Given the description of an element on the screen output the (x, y) to click on. 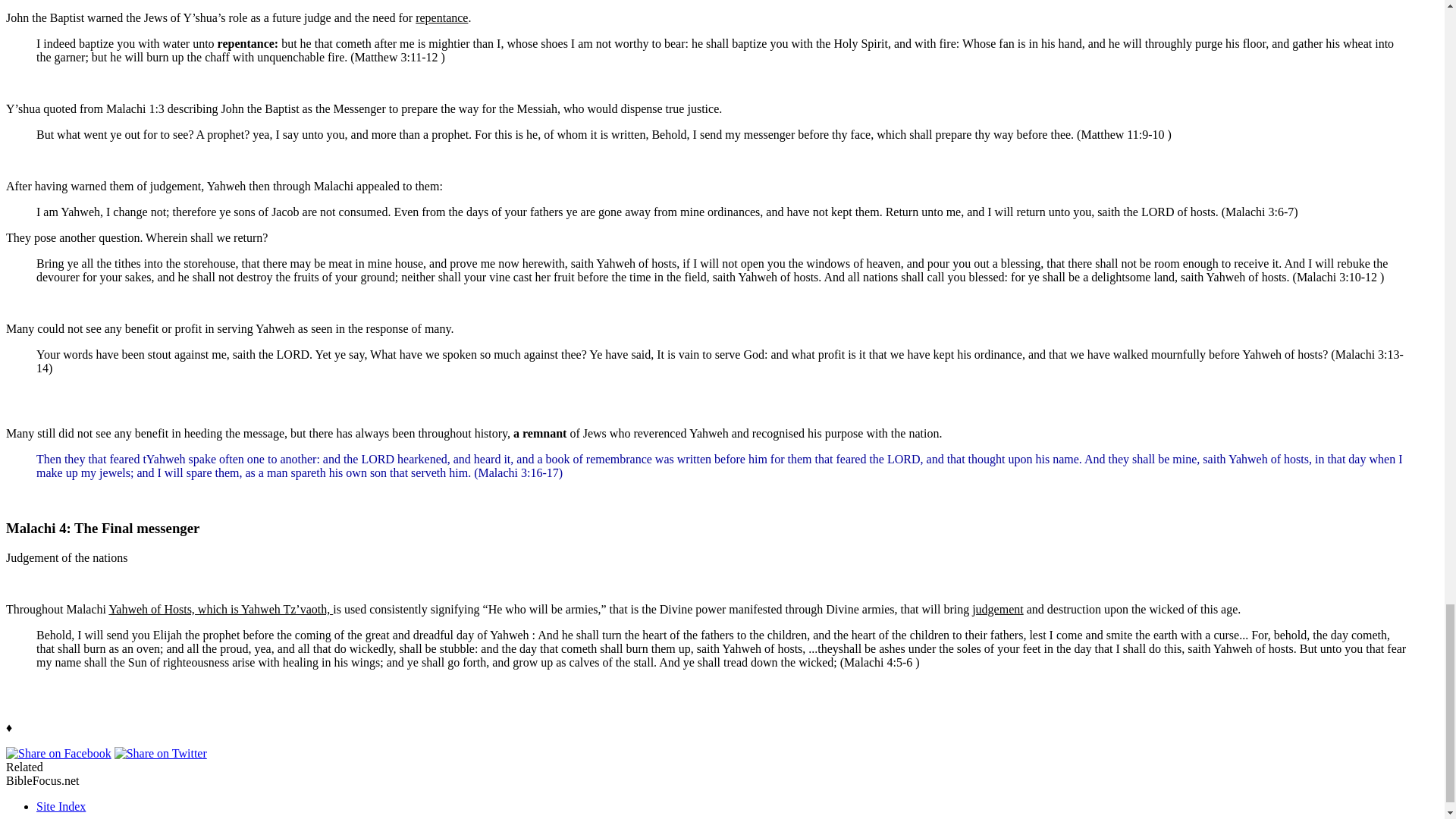
Share on Twitter (160, 753)
Site Index (60, 806)
Share on Facebook (58, 753)
